Given the description of an element on the screen output the (x, y) to click on. 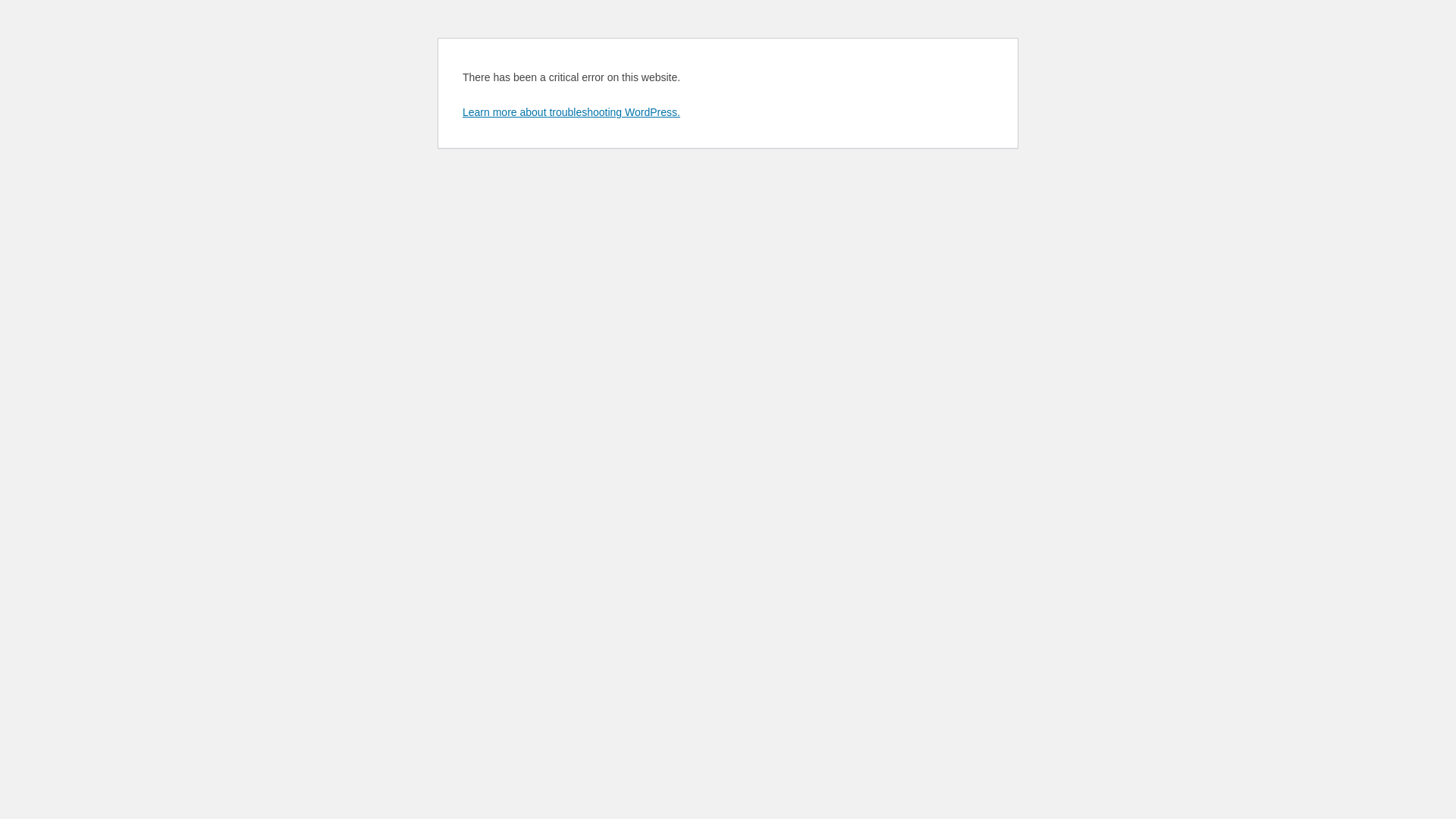
Learn more about troubleshooting WordPress. Element type: text (571, 112)
